Given the description of an element on the screen output the (x, y) to click on. 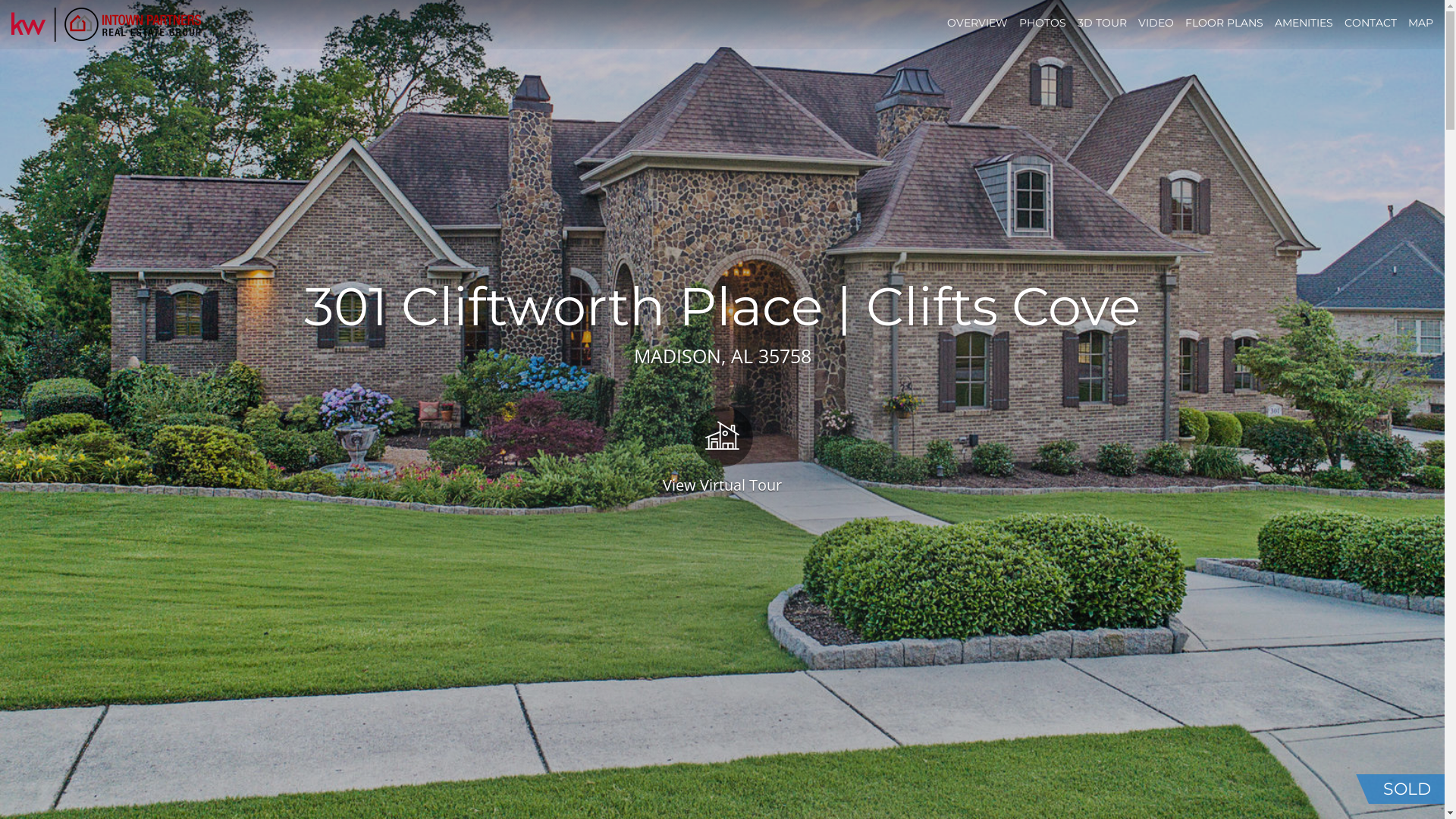
View Virtual Tour Element type: text (722, 448)
OVERVIEW Element type: text (977, 22)
CONTACT Element type: text (1370, 22)
VIDEO Element type: text (1155, 22)
PHOTOS Element type: text (1042, 22)
FLOOR PLANS Element type: text (1224, 22)
AMENITIES Element type: text (1303, 22)
3D TOUR Element type: text (1101, 22)
MAP Element type: text (1420, 22)
